Given the description of an element on the screen output the (x, y) to click on. 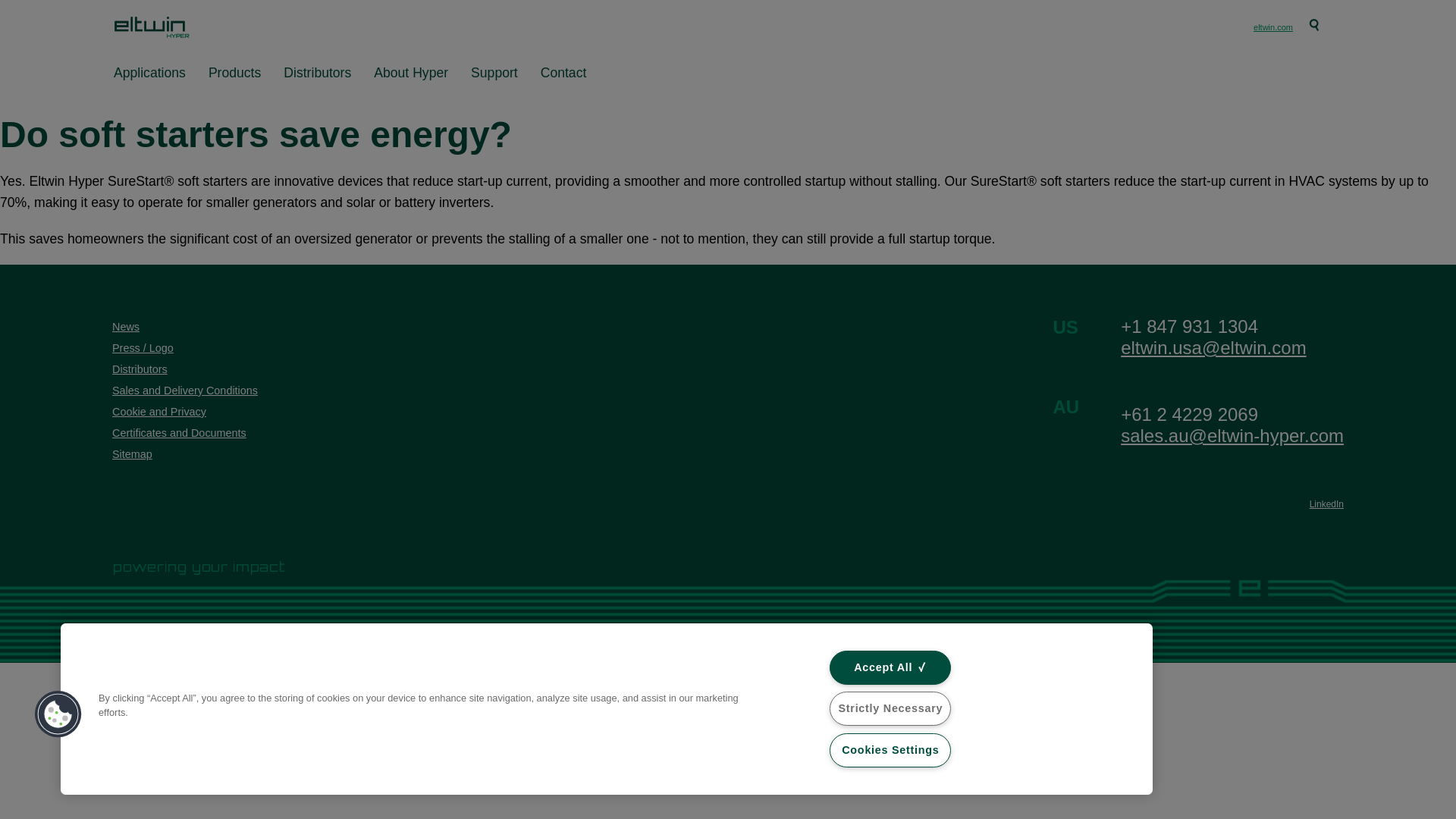
Products (234, 72)
Contact (563, 72)
Support (1272, 26)
Distributors (494, 72)
About Hyper (316, 72)
Applications (411, 72)
